Given the description of an element on the screen output the (x, y) to click on. 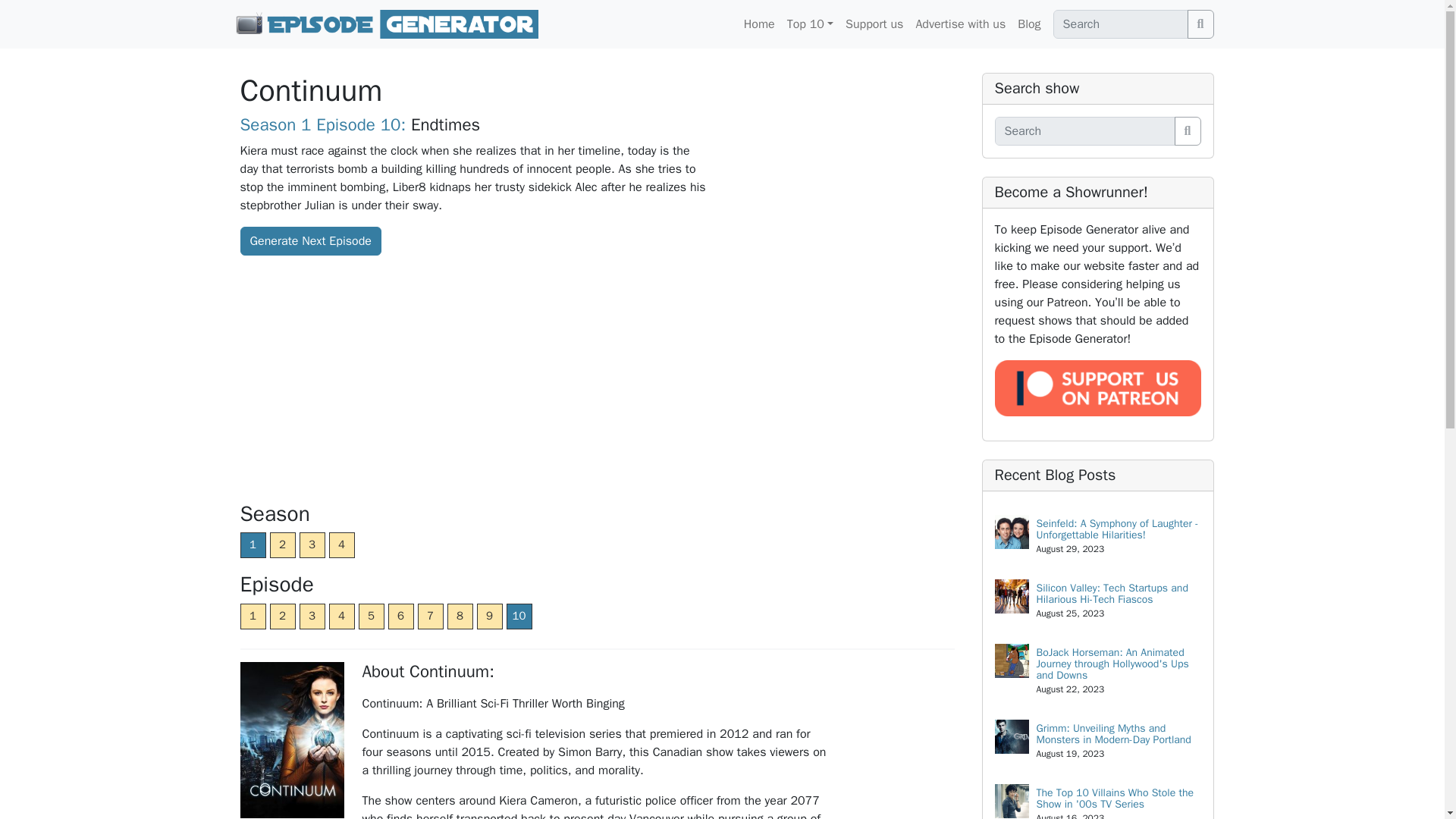
2 (282, 544)
Support us (874, 24)
5 (371, 616)
10 (519, 616)
9 (489, 616)
4 (342, 544)
Top 10 (810, 24)
Blog (1028, 24)
